Given the description of an element on the screen output the (x, y) to click on. 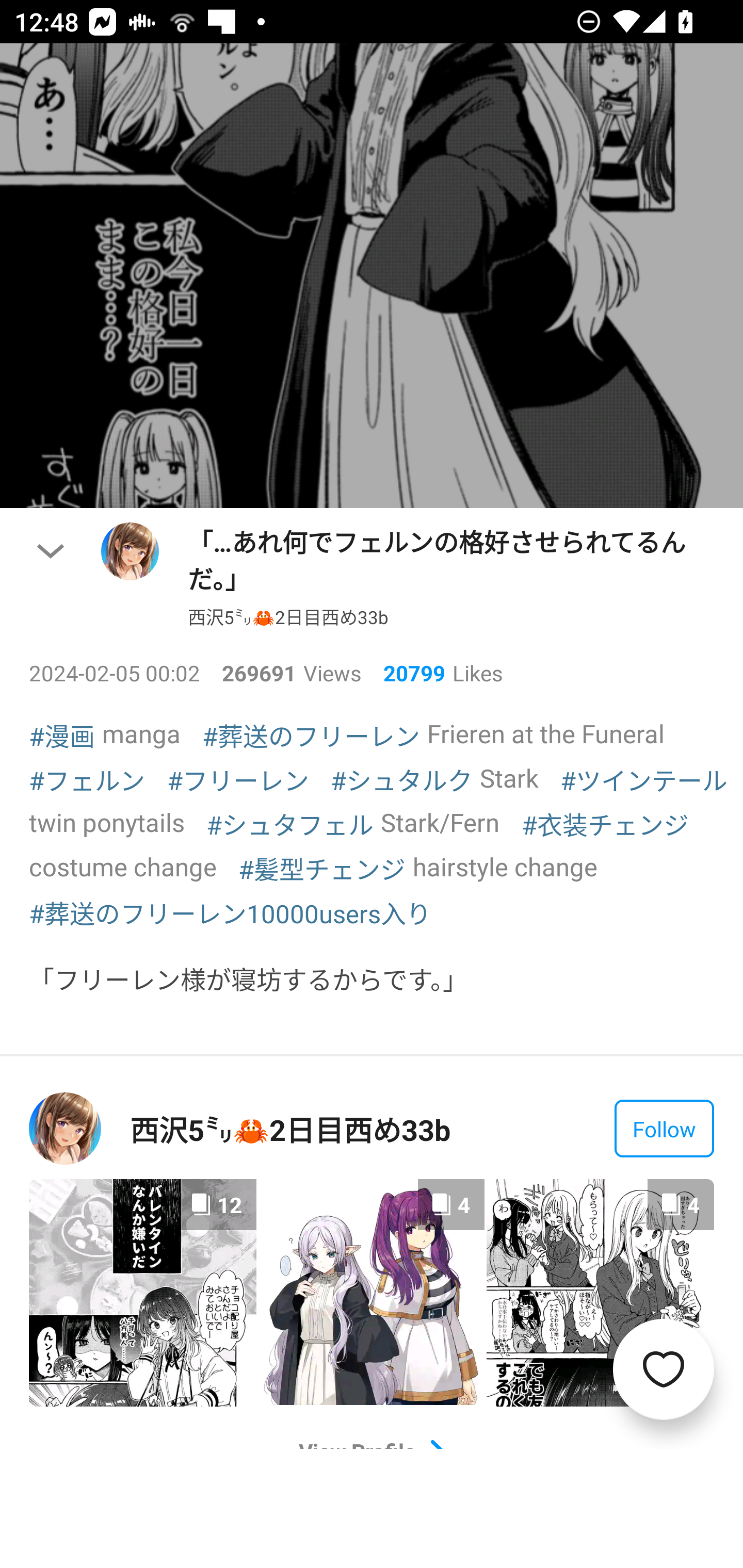
西沢5㍉🦀2日目西め33b (287, 615)
20799 (406, 672)
#漫画 (61, 735)
manga (141, 733)
#葬送のフリーレン (310, 735)
Frieren at the Funeral (545, 733)
#フェルン (86, 779)
#フリーレン (238, 779)
#シュタルク (401, 779)
Stark (508, 777)
#ツインテール (643, 779)
twin ponytails (106, 821)
#シュタフェル (289, 823)
Stark/Fern (440, 821)
#衣装チェンジ (604, 823)
costume change (122, 865)
#髪型チェンジ (321, 867)
hairstyle change (505, 865)
#葬送のフリーレン10000users入り (229, 912)
Follow (664, 1128)
西沢5㍉🦀2日目西め33b (290, 1128)
12 (142, 1292)
4 (371, 1291)
4 (600, 1292)
